Given the description of an element on the screen output the (x, y) to click on. 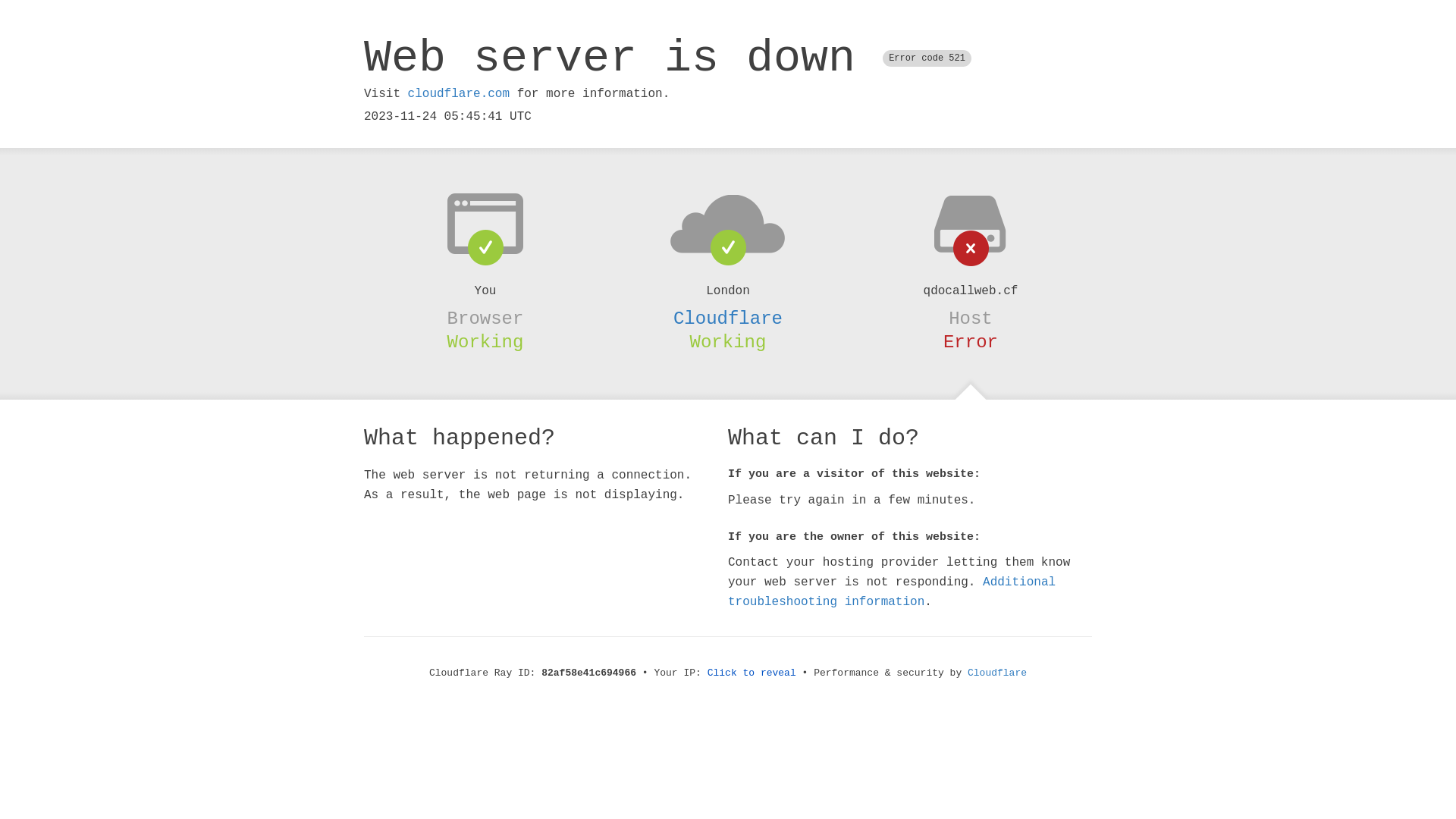
cloudflare.com Element type: text (458, 93)
Cloudflare Element type: text (996, 672)
Cloudflare Element type: text (727, 318)
Click to reveal Element type: text (751, 672)
Additional troubleshooting information Element type: text (891, 591)
